Given the description of an element on the screen output the (x, y) to click on. 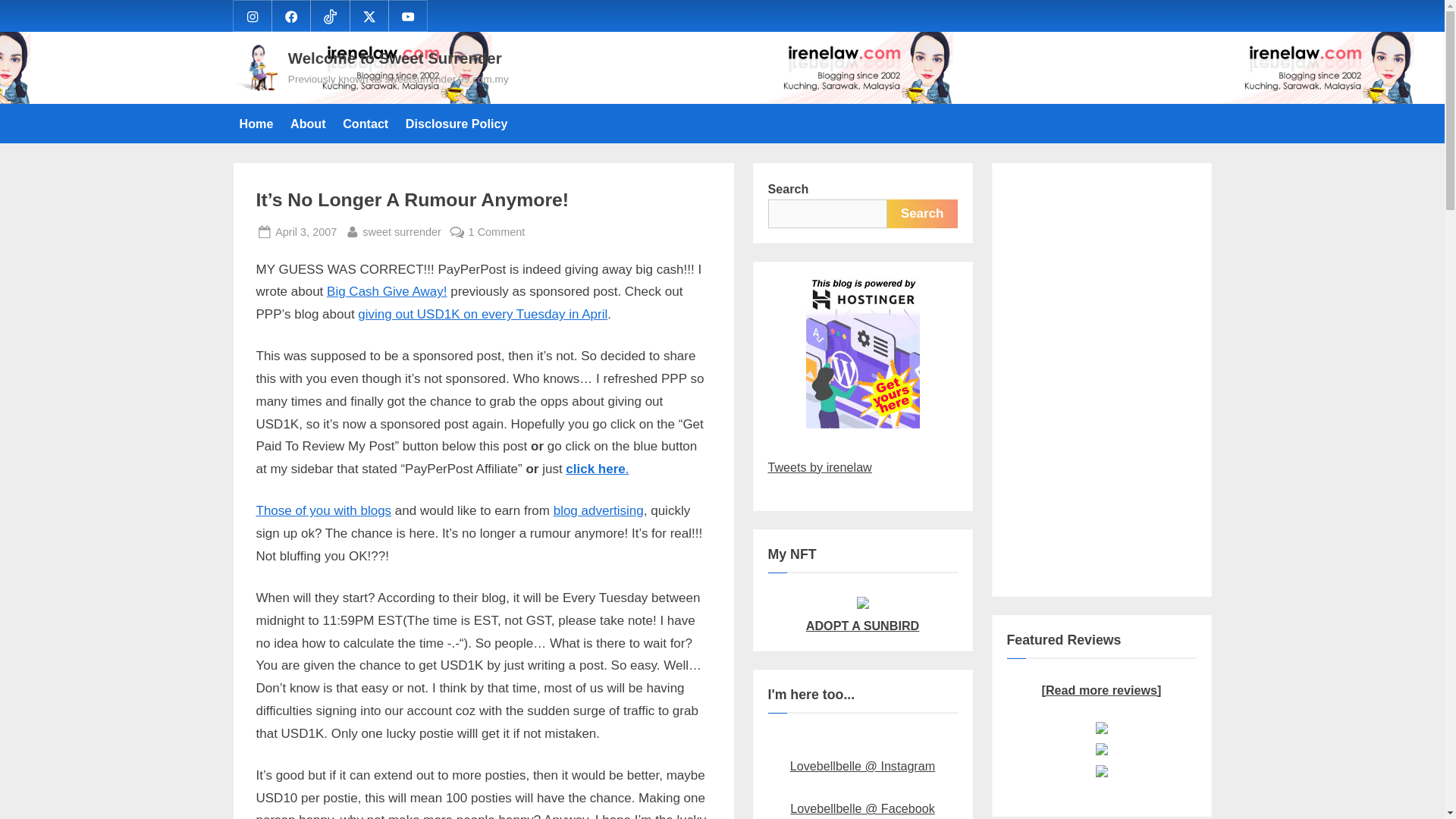
click here (595, 468)
blogs (375, 510)
giving out USD1K on every Tuesday in April (482, 314)
Those of you with (308, 510)
Facebook (291, 15)
Home (255, 123)
TikTok (329, 15)
Big Cash Give Away! (386, 291)
ADOPT A SUNBIRD (862, 614)
Instagram (252, 15)
Welcome to Sweet Surrender (395, 57)
Tweets by irenelaw (305, 231)
blog advertising (818, 467)
